Given the description of an element on the screen output the (x, y) to click on. 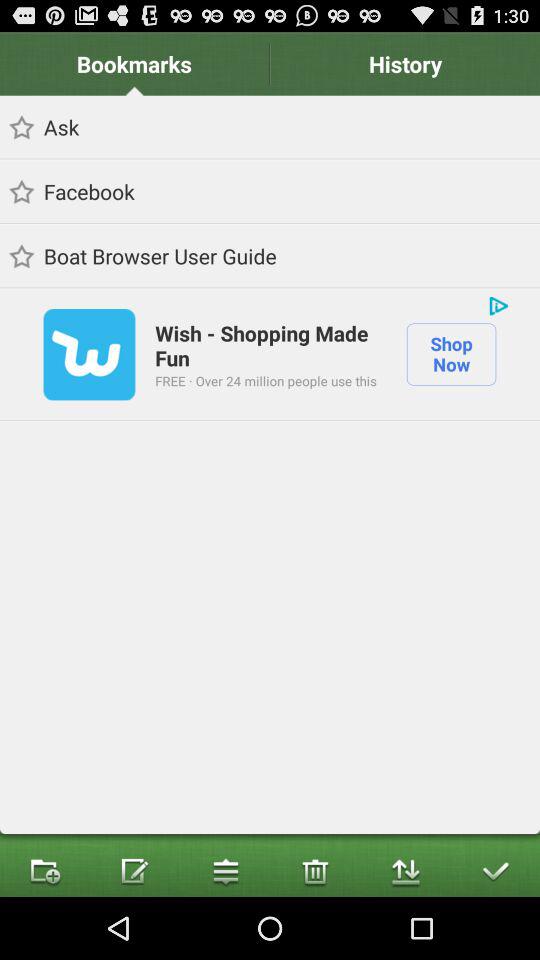
tap the icon to the left of shop now app (265, 380)
